Given the description of an element on the screen output the (x, y) to click on. 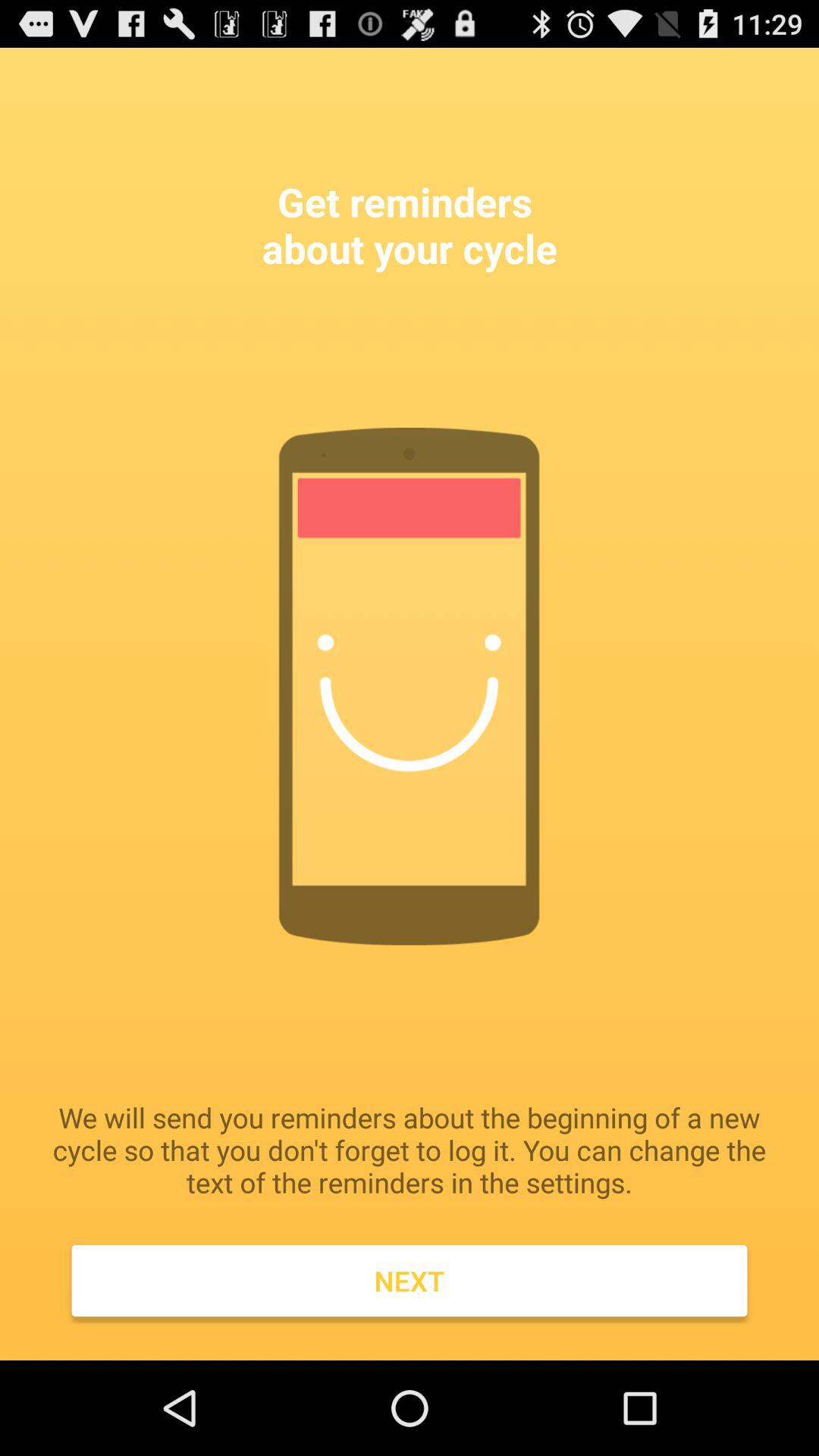
open next icon (409, 1280)
